Given the description of an element on the screen output the (x, y) to click on. 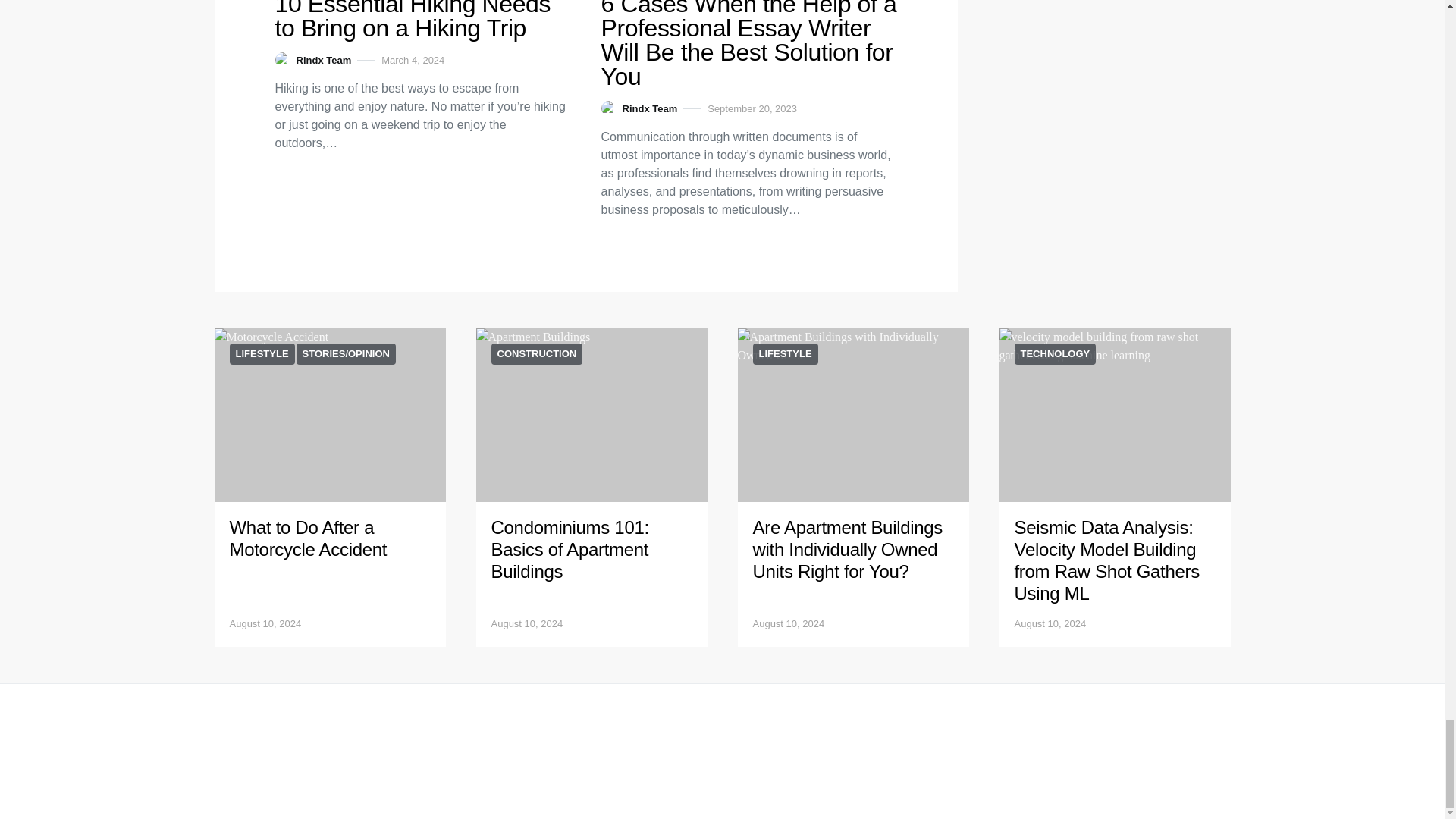
View all posts by Rindx Team (638, 108)
My Free Mp3 (329, 415)
What to Do After a Motorcycle Accident (307, 537)
View all posts by Rindx Team (312, 59)
